Given the description of an element on the screen output the (x, y) to click on. 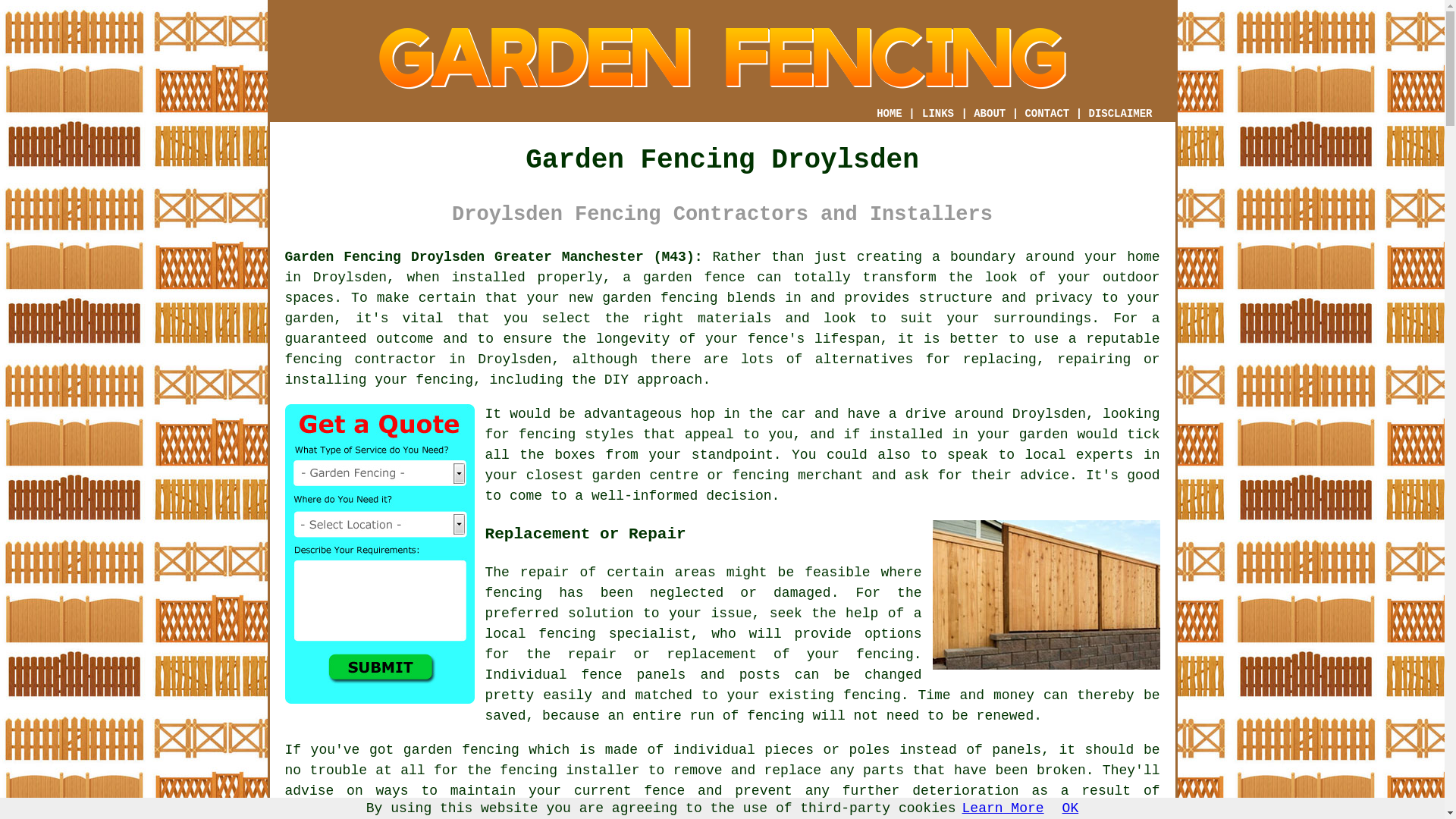
fencing (566, 633)
LINKS (938, 113)
fencing contractor (360, 359)
HOME (889, 113)
Garden Fencing Droylsden (721, 58)
garden fencing (659, 297)
